Given the description of an element on the screen output the (x, y) to click on. 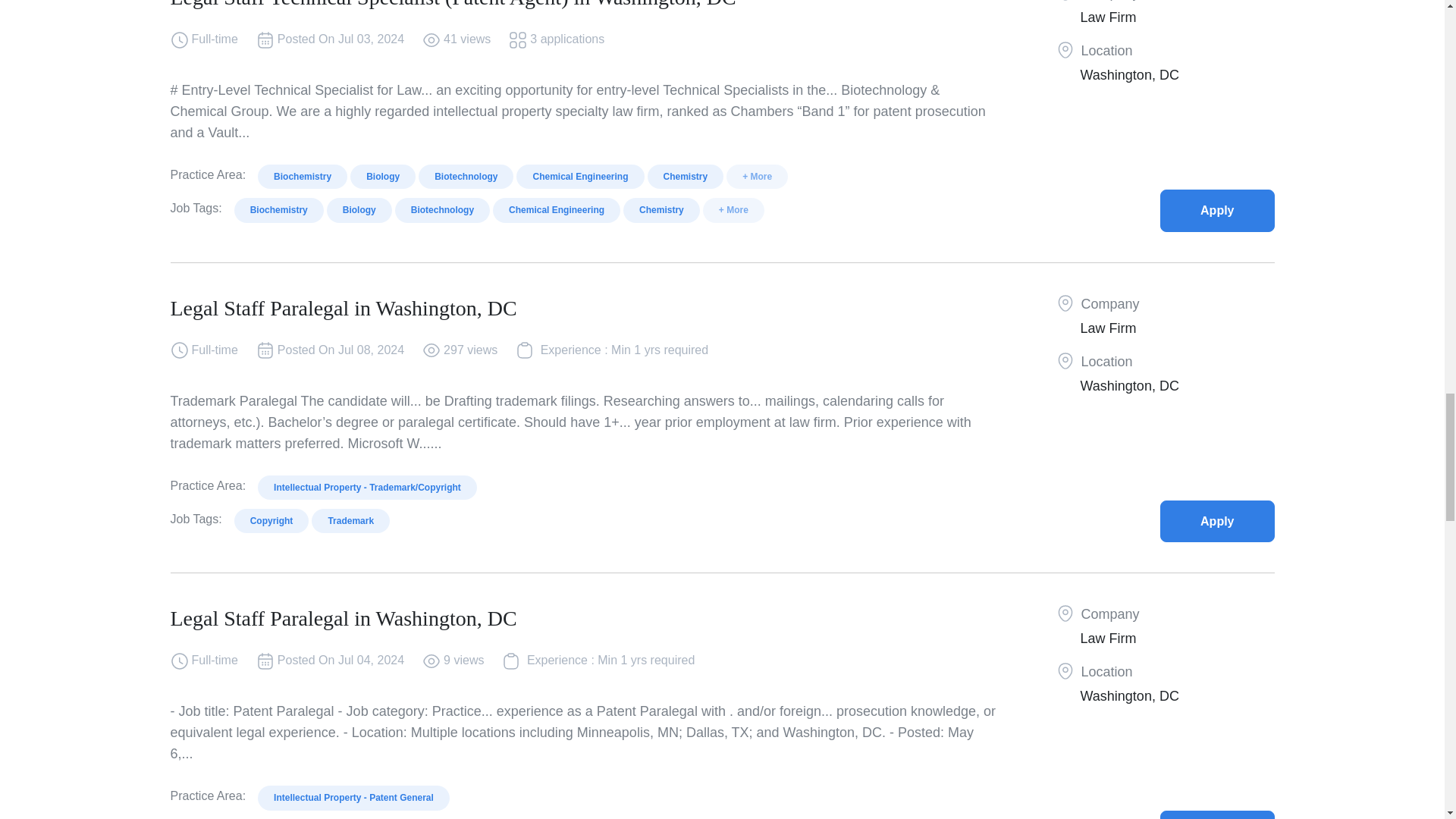
Legal Staff Paralegal in Washington, DC (1217, 521)
Legal Staff Paralegal in Washington, DC (1217, 814)
